Given the description of an element on the screen output the (x, y) to click on. 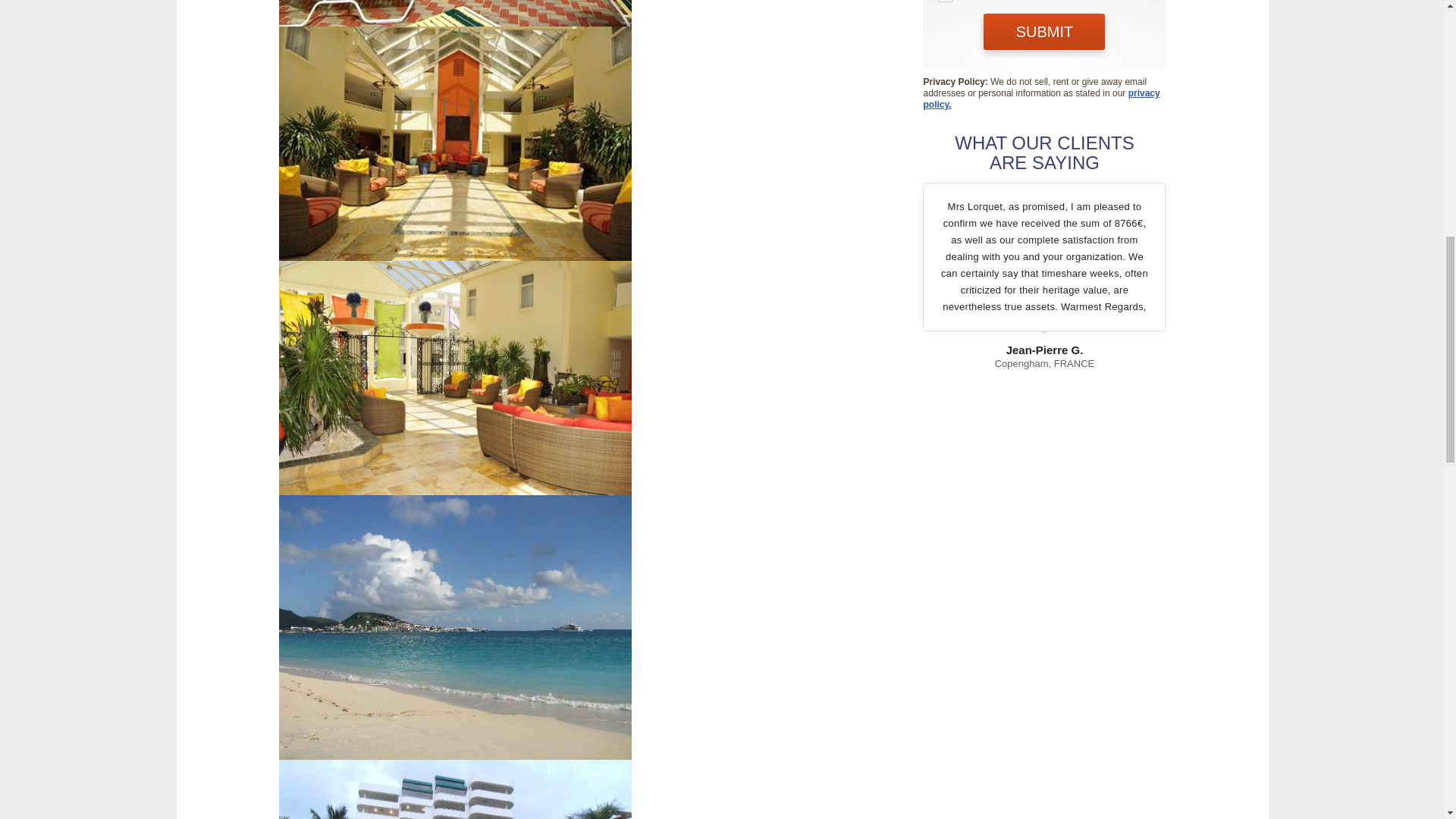
purchasing (945, 1)
privacy policy. (1040, 98)
SUBMIT (1044, 31)
